Given the description of an element on the screen output the (x, y) to click on. 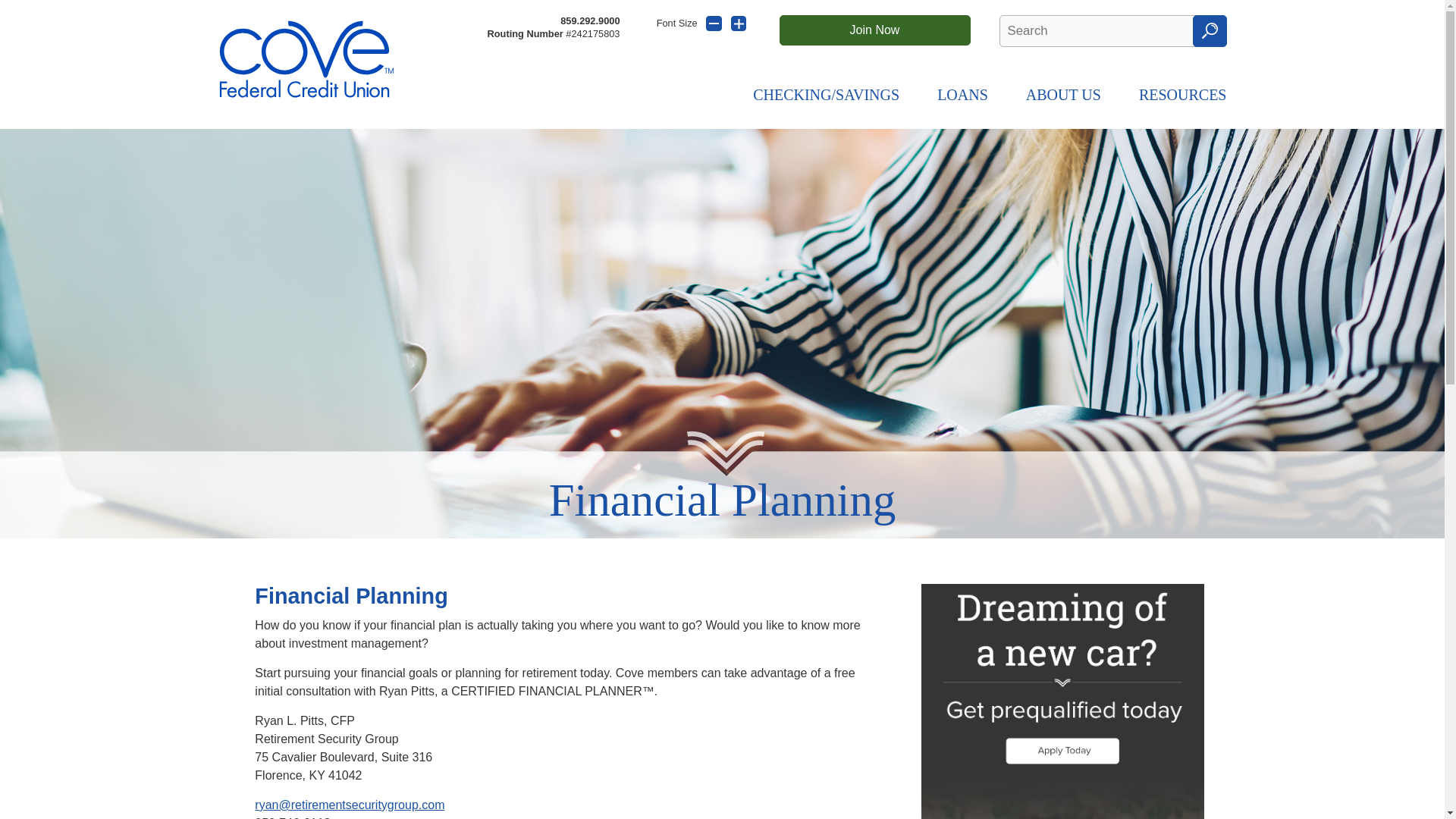
Cove FCU (306, 58)
Search input (1101, 30)
